Given the description of an element on the screen output the (x, y) to click on. 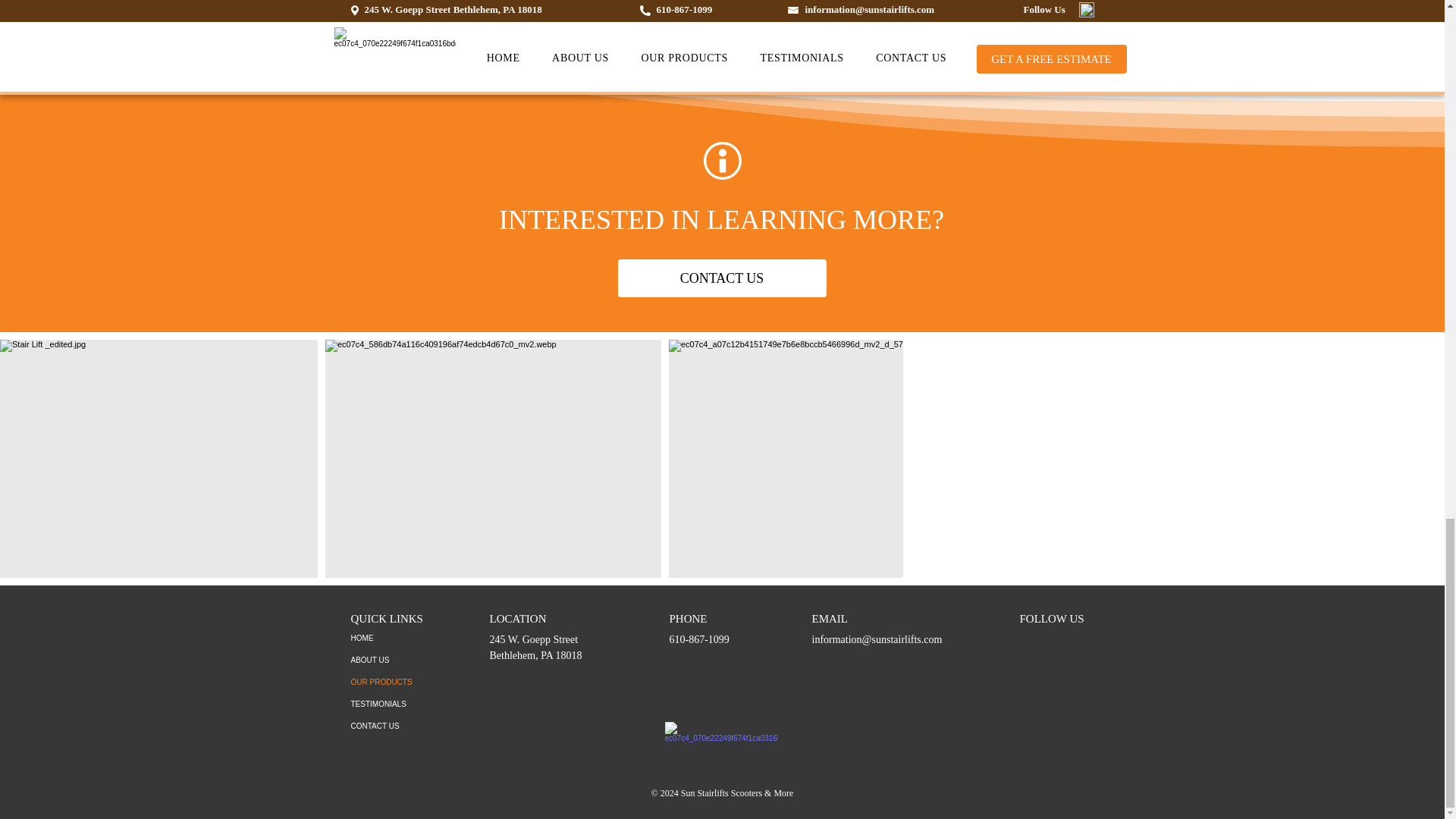
CONTACT US (403, 725)
HOME (403, 638)
CONTACT US (721, 278)
610-867-1099 (698, 639)
TESTIMONIALS (403, 703)
ABOUT US (403, 659)
